Given the description of an element on the screen output the (x, y) to click on. 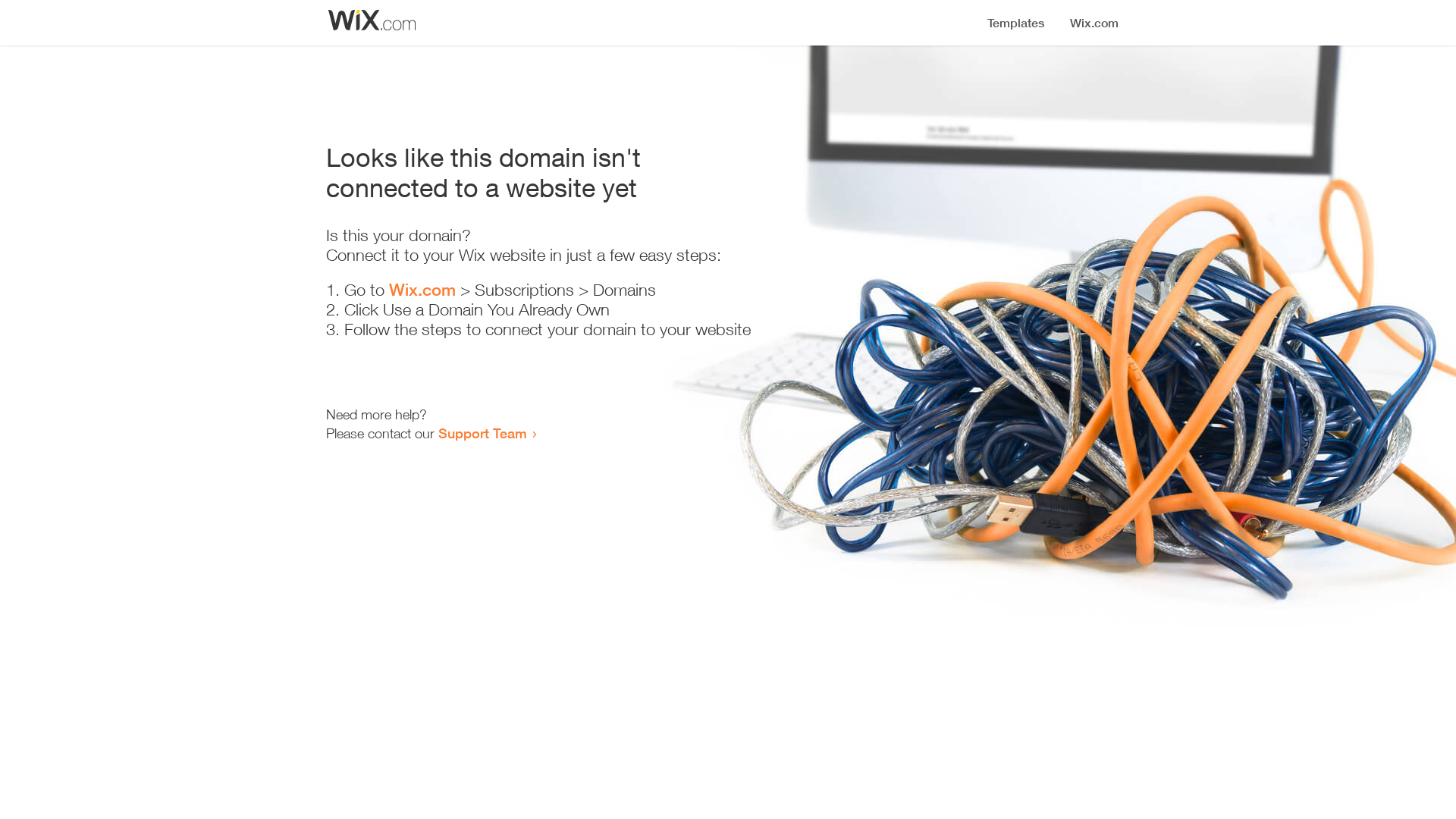
Wix.com Element type: text (422, 289)
Support Team Element type: text (482, 432)
